Given the description of an element on the screen output the (x, y) to click on. 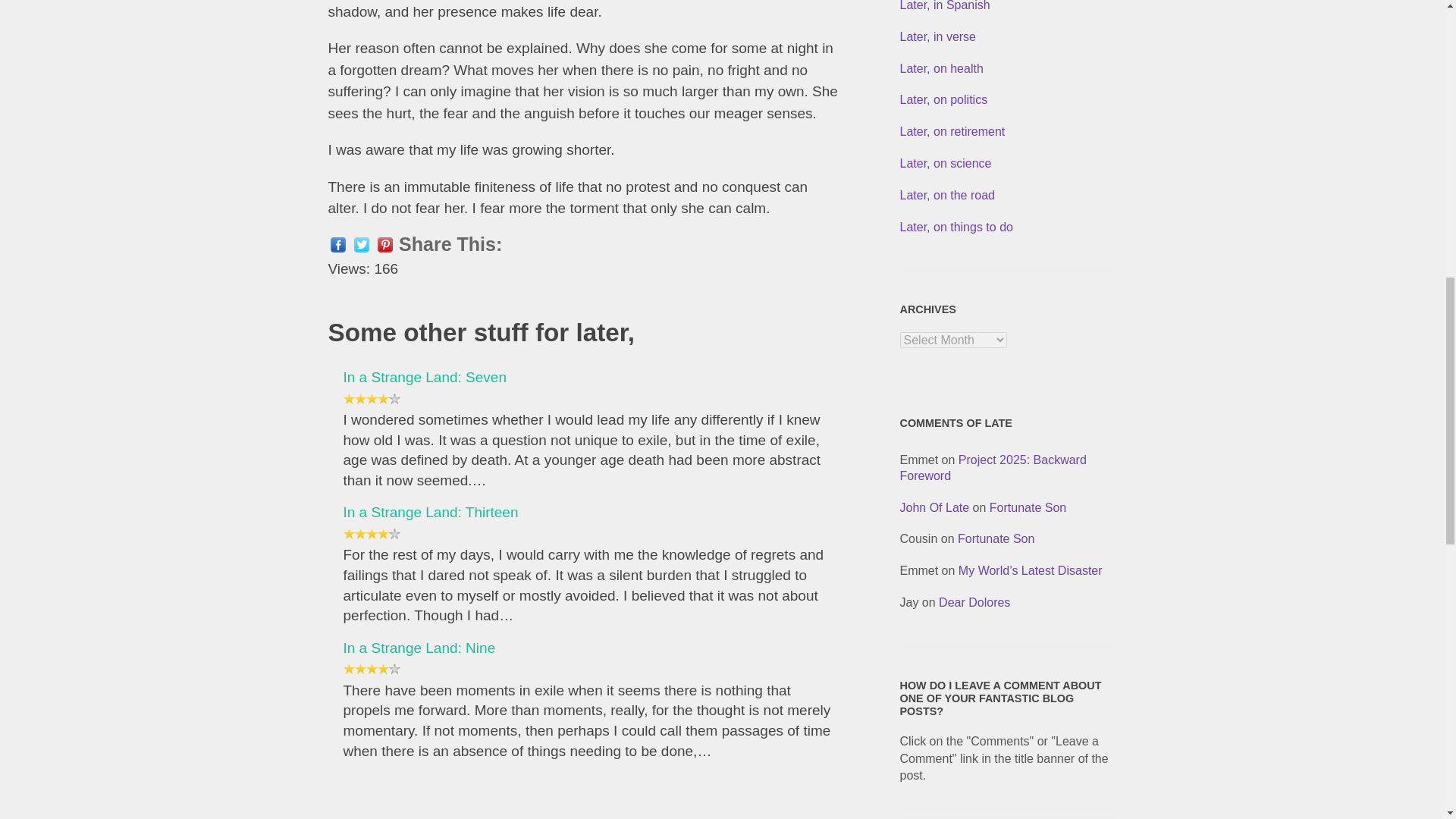
In a Strange Land: Thirteen (430, 512)
Later, in Spanish (944, 5)
In a Strange Land: Seven (424, 376)
In a Strange Land: Thirteen (430, 512)
In a Strange Land: Nine (418, 647)
In a Strange Land: Seven (424, 376)
In a Strange Land: Nine (418, 647)
